Given the description of an element on the screen output the (x, y) to click on. 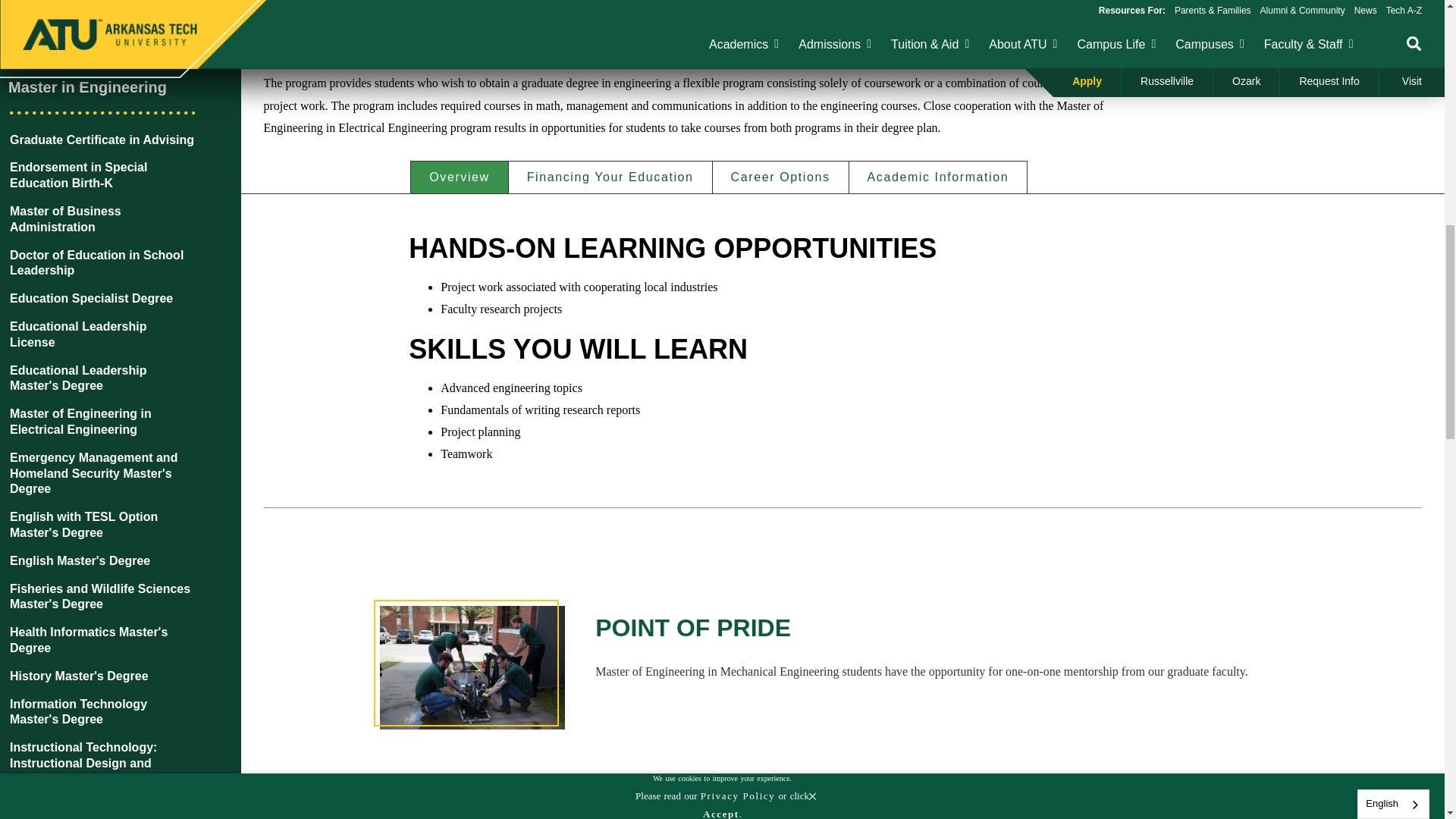
Accept (721, 2)
